Given the description of an element on the screen output the (x, y) to click on. 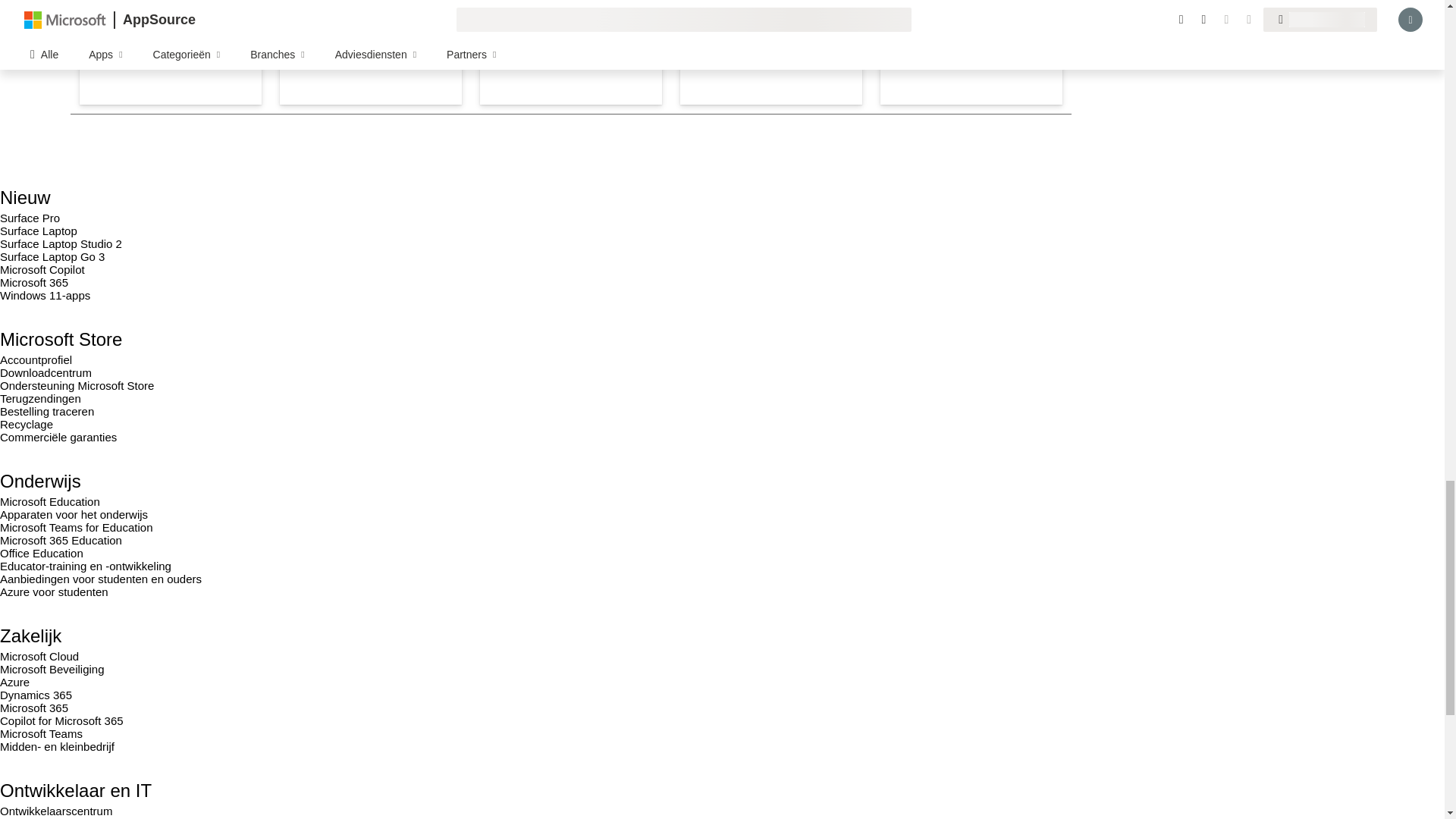
Recyclage (26, 423)
1:1 Fabric in a Day Workshop - Half or 1 Day Workshop (370, 52)
Microsoft 365 (34, 282)
Terugzendingen (40, 398)
Microsoft Teams for Education (76, 526)
Surface Laptop Studio 2 (61, 243)
Ondersteuning Microsoft Store (77, 385)
Power Automate Implementation - Supply Chain (770, 52)
Microsoft Copilot (42, 269)
Windows 11-apps (45, 295)
Apparaten voor het onderwijs (74, 513)
Power BI Managed Services: Monthly Support (571, 52)
Bestelling traceren (47, 410)
Surface Laptop Go 3 (52, 256)
Microsoft Education (50, 501)
